Given the description of an element on the screen output the (x, y) to click on. 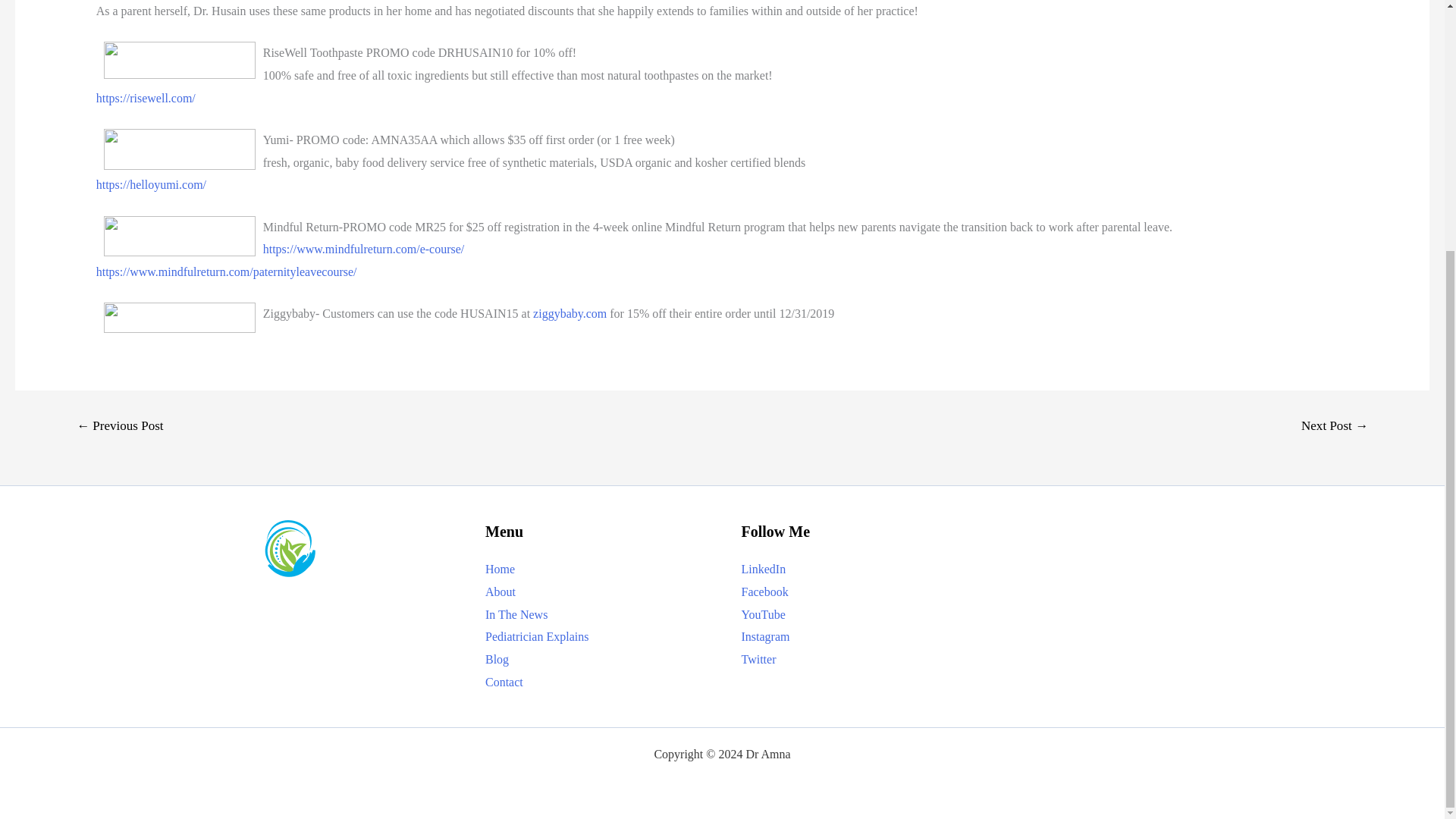
Home (499, 568)
About (499, 591)
ziggybaby.com (569, 313)
Contact (503, 681)
YouTube (763, 614)
LinkedIn (763, 568)
Blog (496, 658)
Twitter (758, 658)
In The News (515, 614)
Facebook (765, 591)
Pediatrician Explains (536, 635)
Instagram (765, 635)
